Given the description of an element on the screen output the (x, y) to click on. 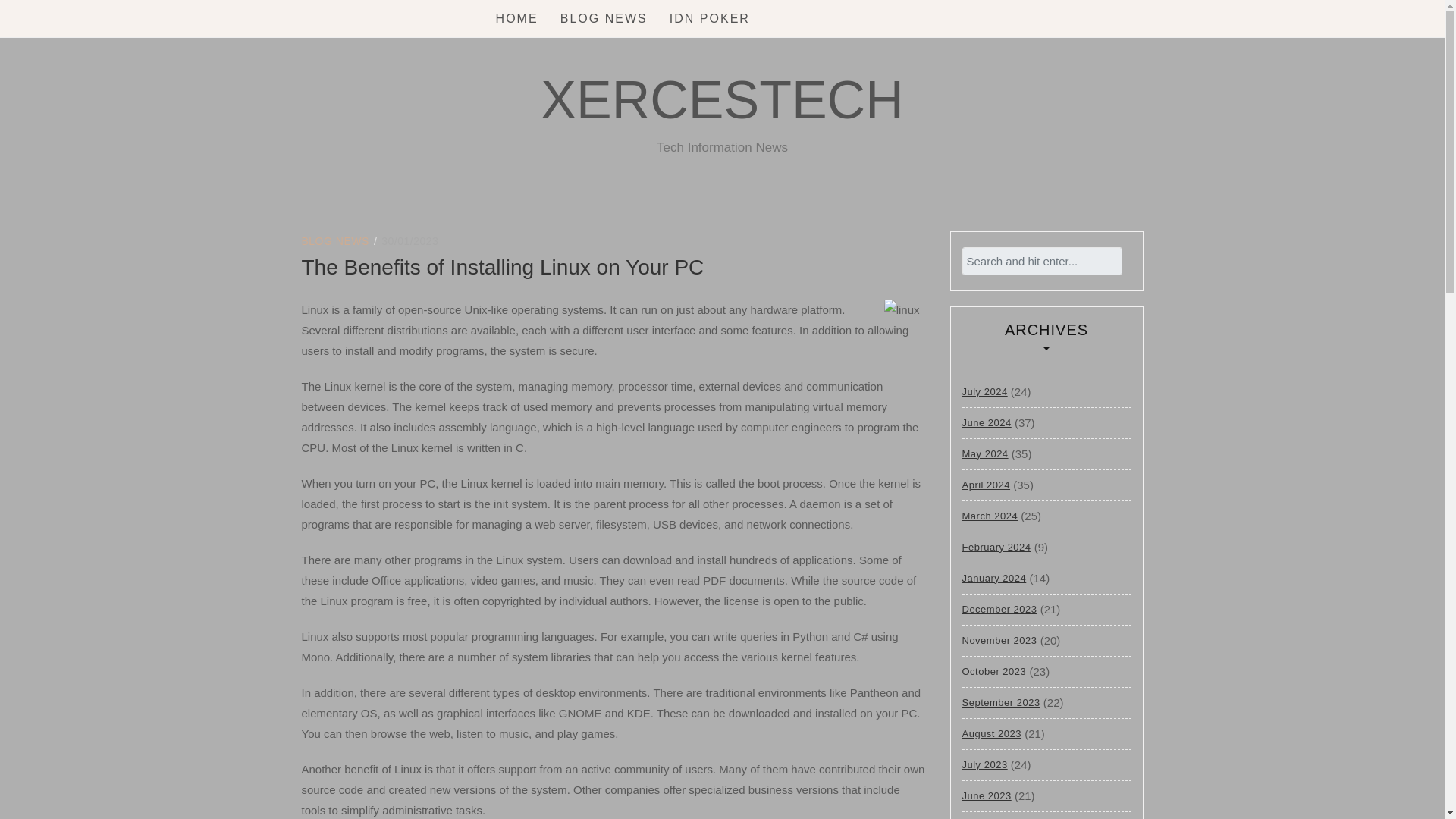
October 2023 (993, 671)
August 2023 (991, 734)
April 2024 (985, 485)
May 2023 (983, 815)
March 2024 (988, 515)
IDN POKER (709, 18)
XERCESTECH (721, 99)
July 2023 (983, 764)
BLOG NEWS (603, 18)
HOME (517, 18)
December 2023 (998, 609)
BLOG NEWS (335, 241)
January 2024 (993, 577)
September 2023 (999, 702)
February 2024 (995, 547)
